Given the description of an element on the screen output the (x, y) to click on. 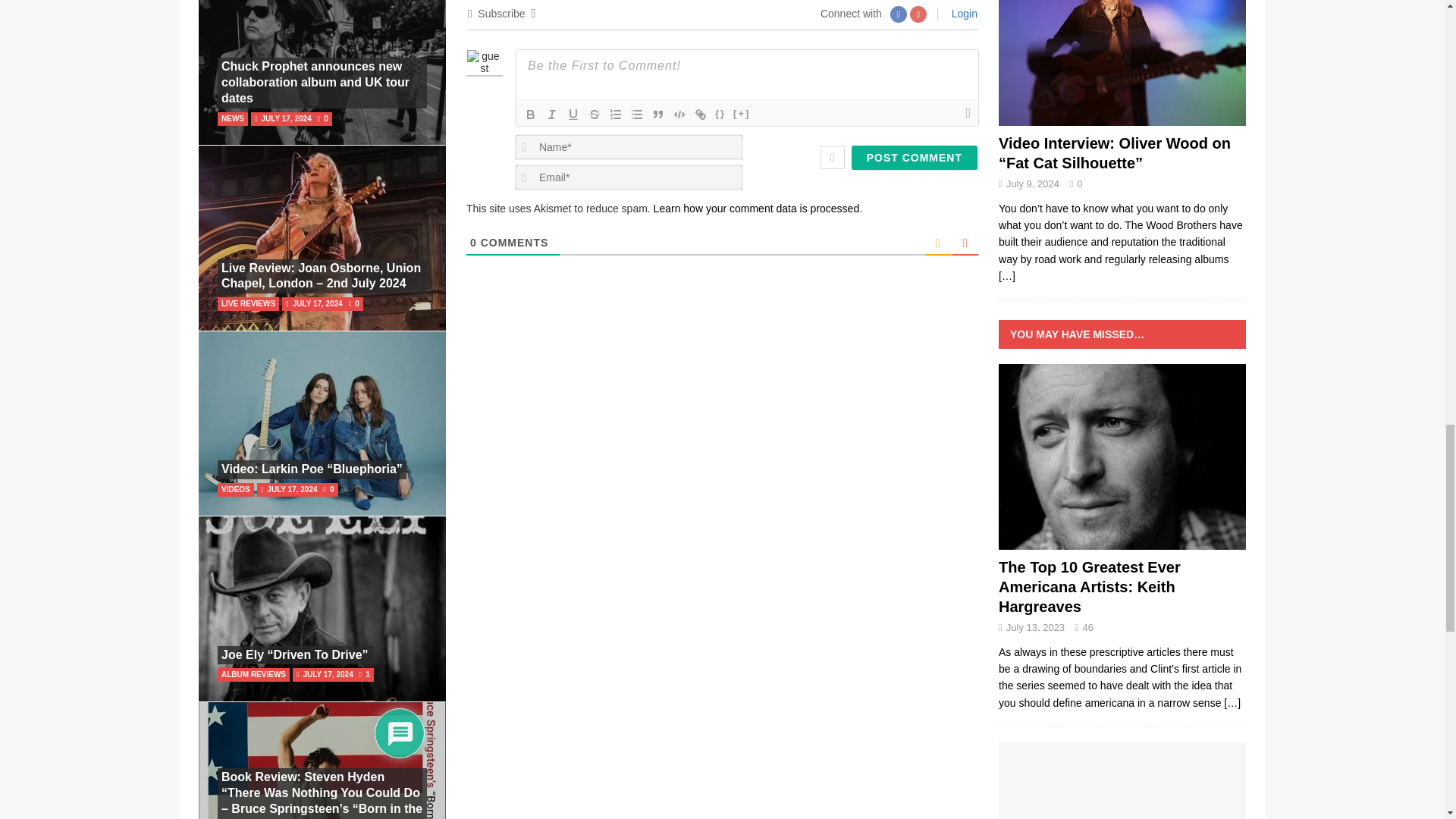
Post Comment (913, 157)
